Given the description of an element on the screen output the (x, y) to click on. 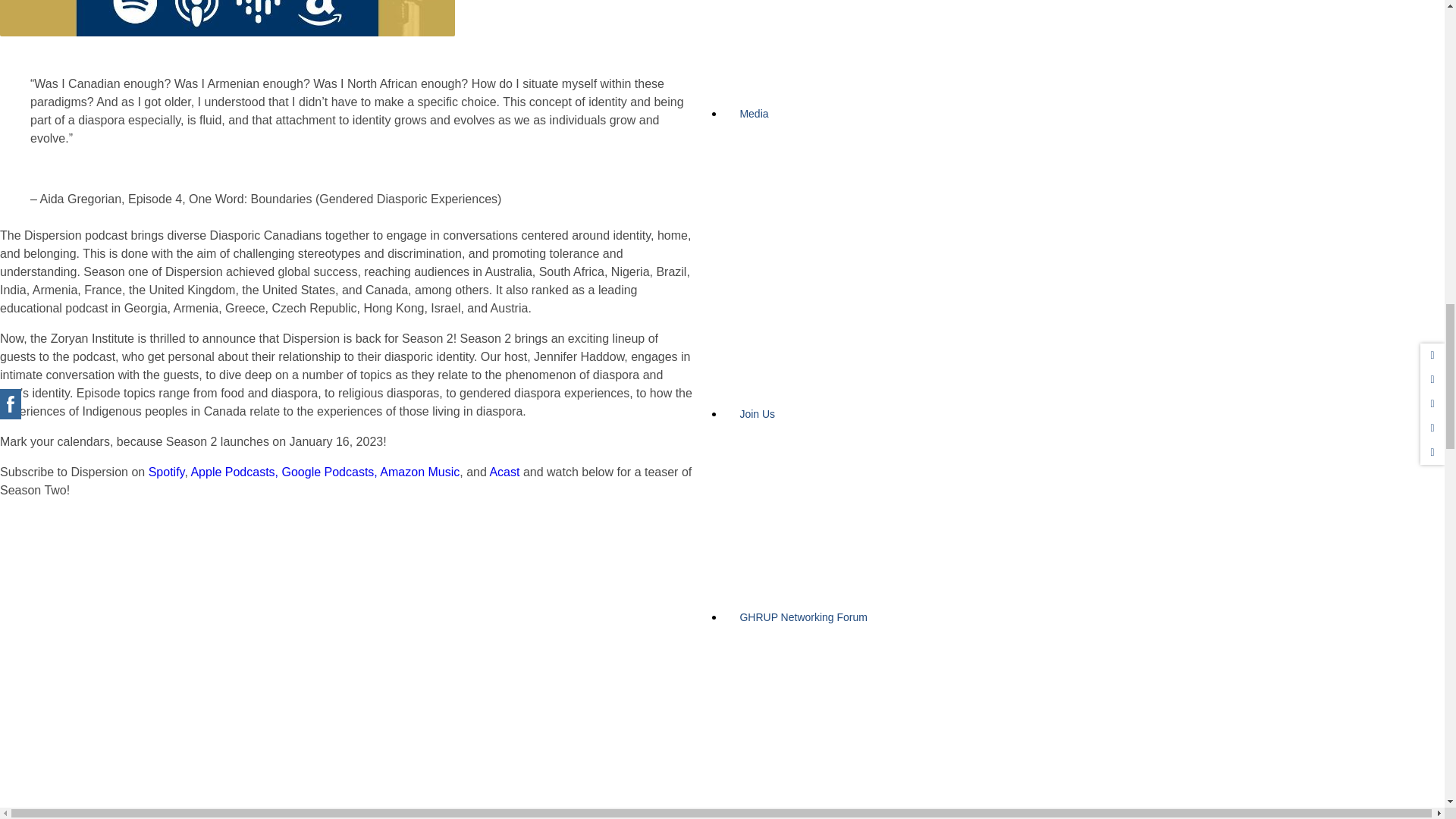
Dispersion Season 2: Coming Soon! (197, 665)
